Given the description of an element on the screen output the (x, y) to click on. 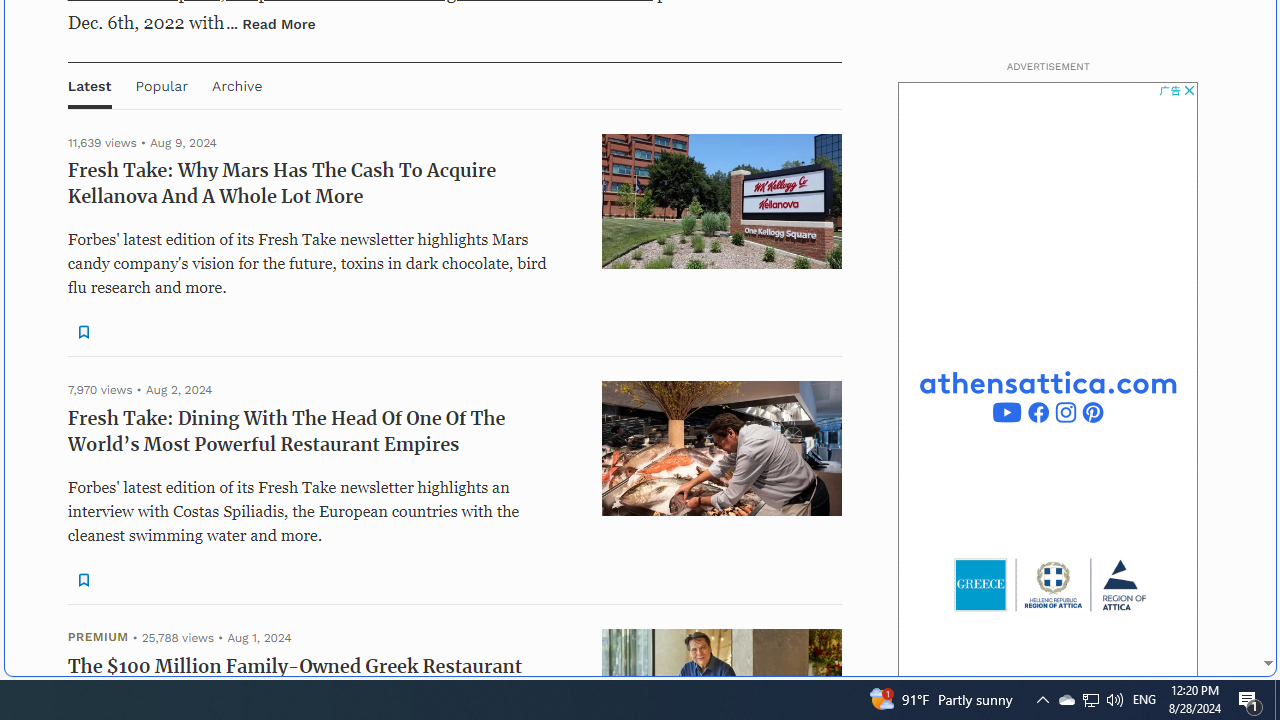
article image (722, 448)
... Read More (271, 23)
Archive (236, 84)
Class: sElHJWe4 NQX0jJYe (82, 579)
article image (722, 448)
Latest (89, 84)
Popular (161, 84)
